Given the description of an element on the screen output the (x, y) to click on. 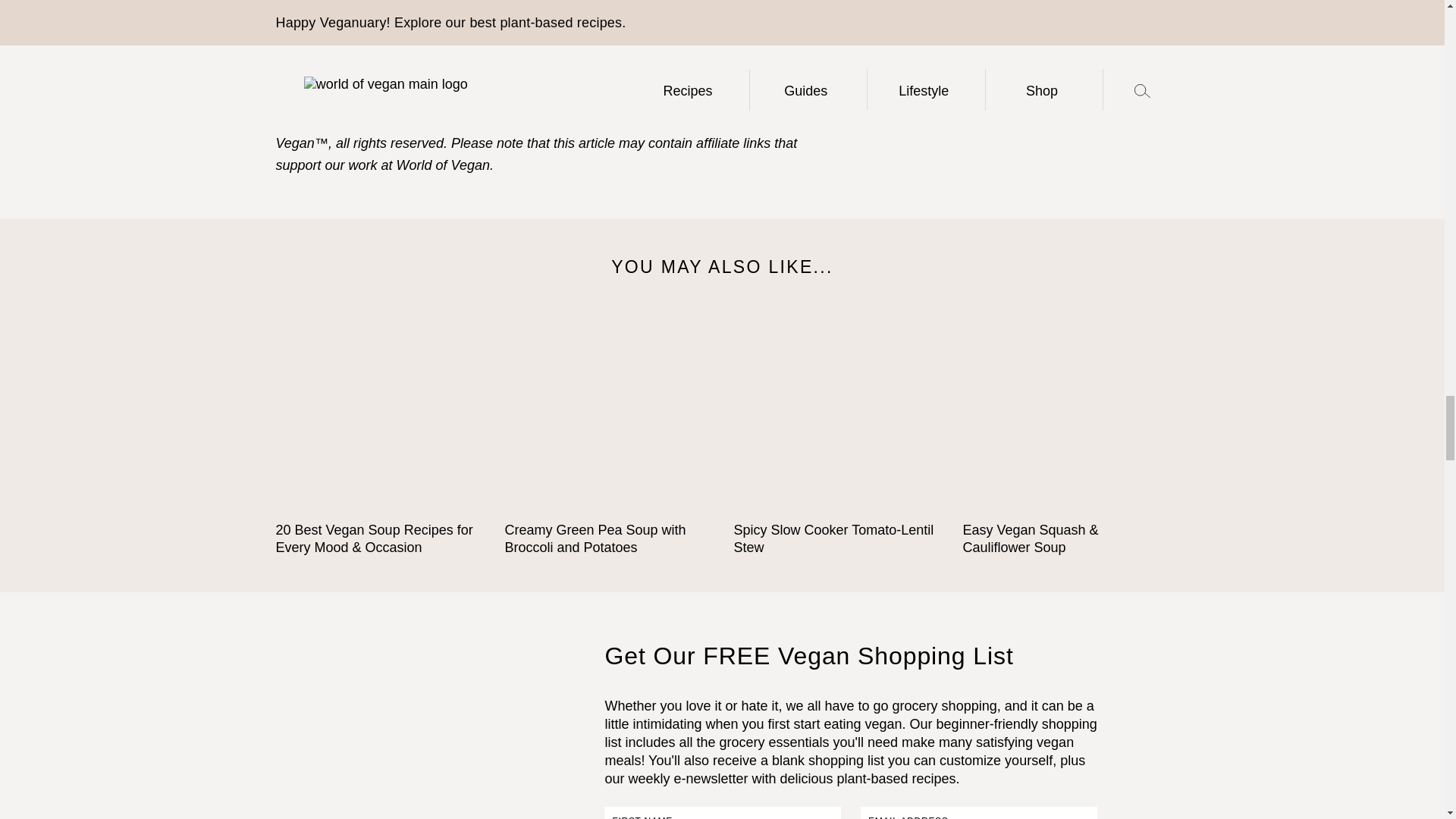
Spicy Slow Cooker Tomato-Lentil Stew (836, 413)
Zhoro Apostolov (491, 120)
Creamy Green Pea Soup with Broccoli and Potatoes (608, 413)
Taylor Gillespie (675, 36)
